Given the description of an element on the screen output the (x, y) to click on. 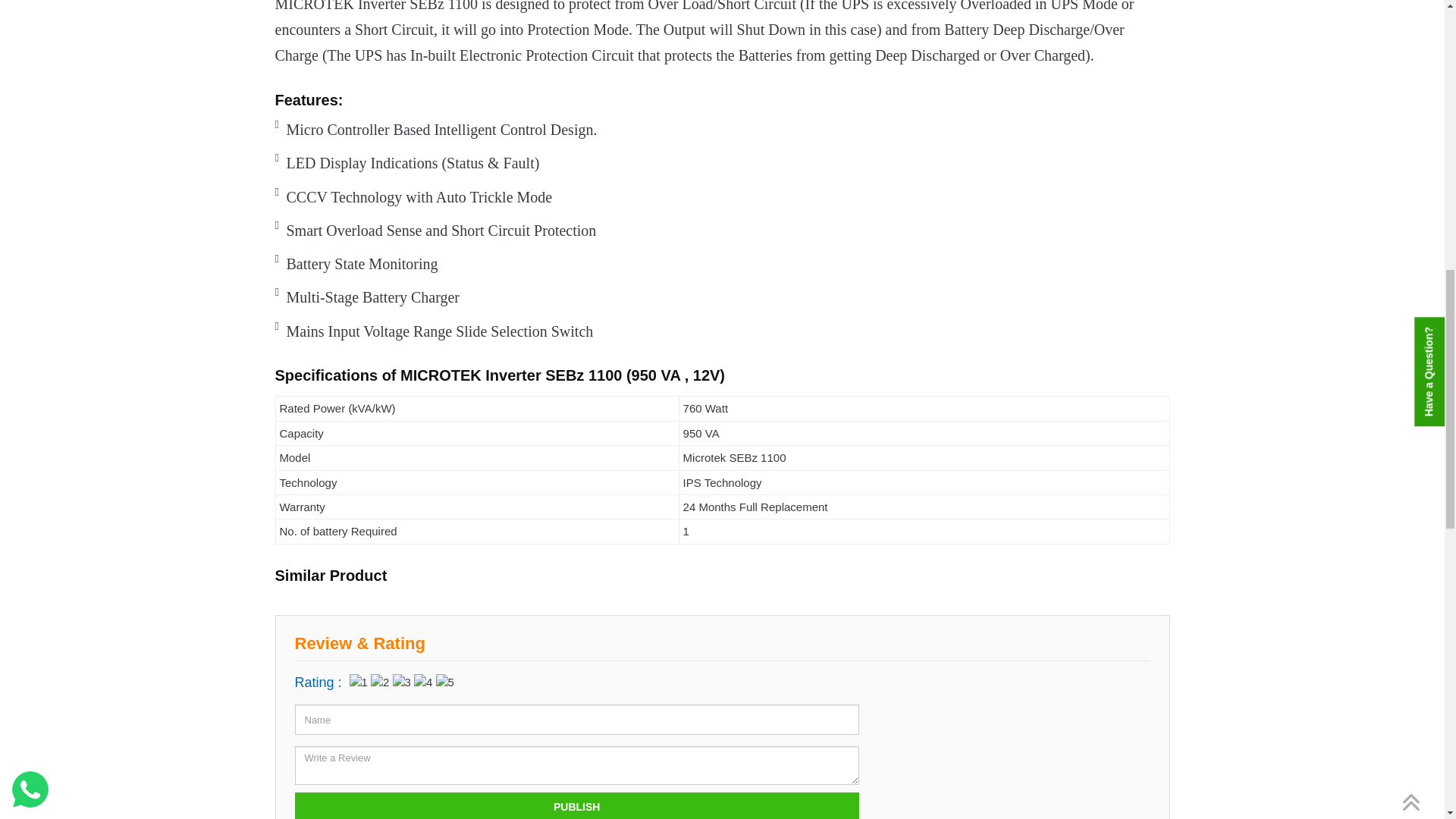
regular (401, 682)
gorgeous (444, 682)
good (422, 682)
bad (358, 682)
poor (379, 682)
